Given the description of an element on the screen output the (x, y) to click on. 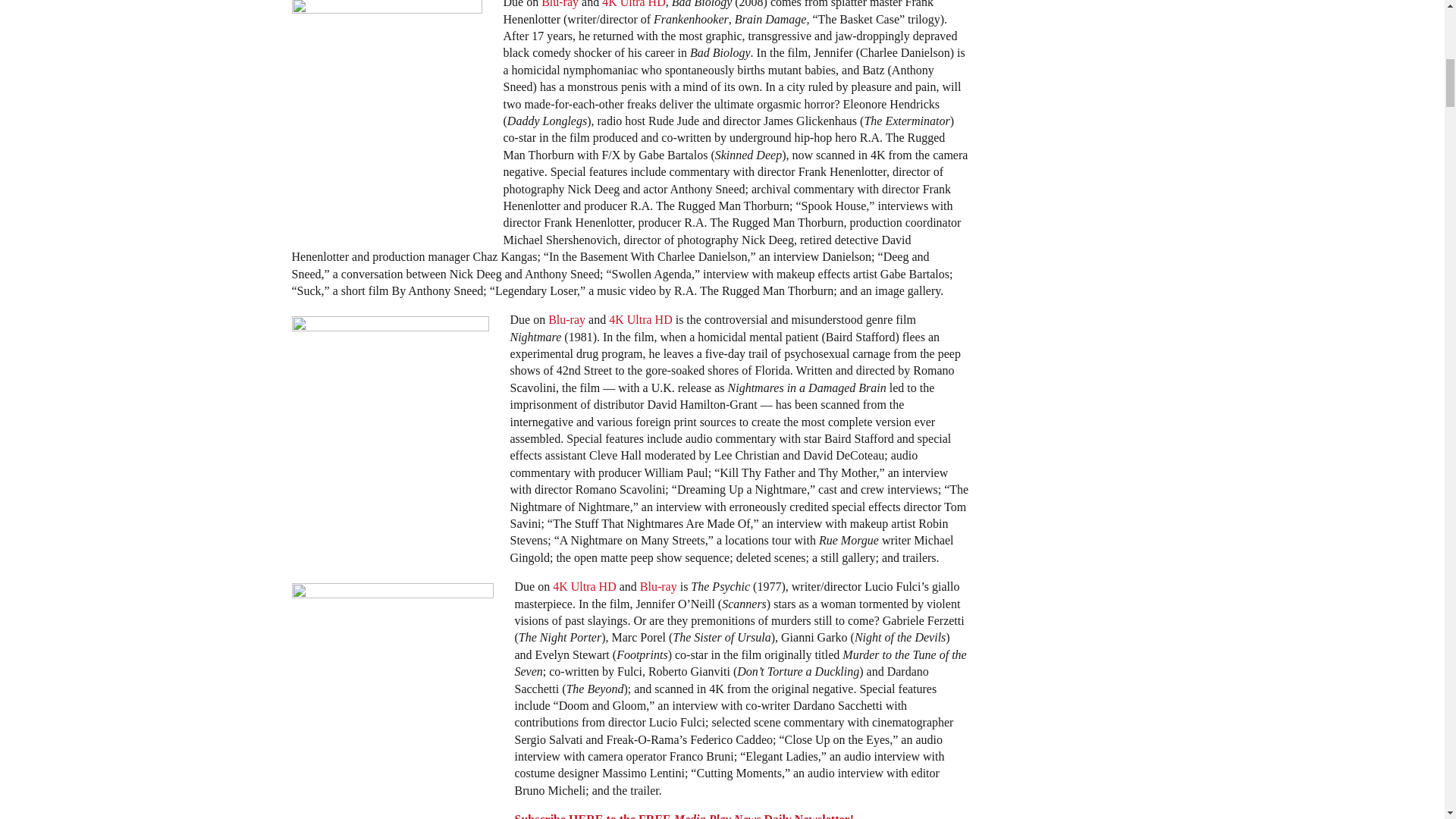
Blu-ray (566, 318)
4K Ultra HD (640, 318)
4K Ultra HD (633, 4)
Blu-ray (559, 4)
